Given the description of an element on the screen output the (x, y) to click on. 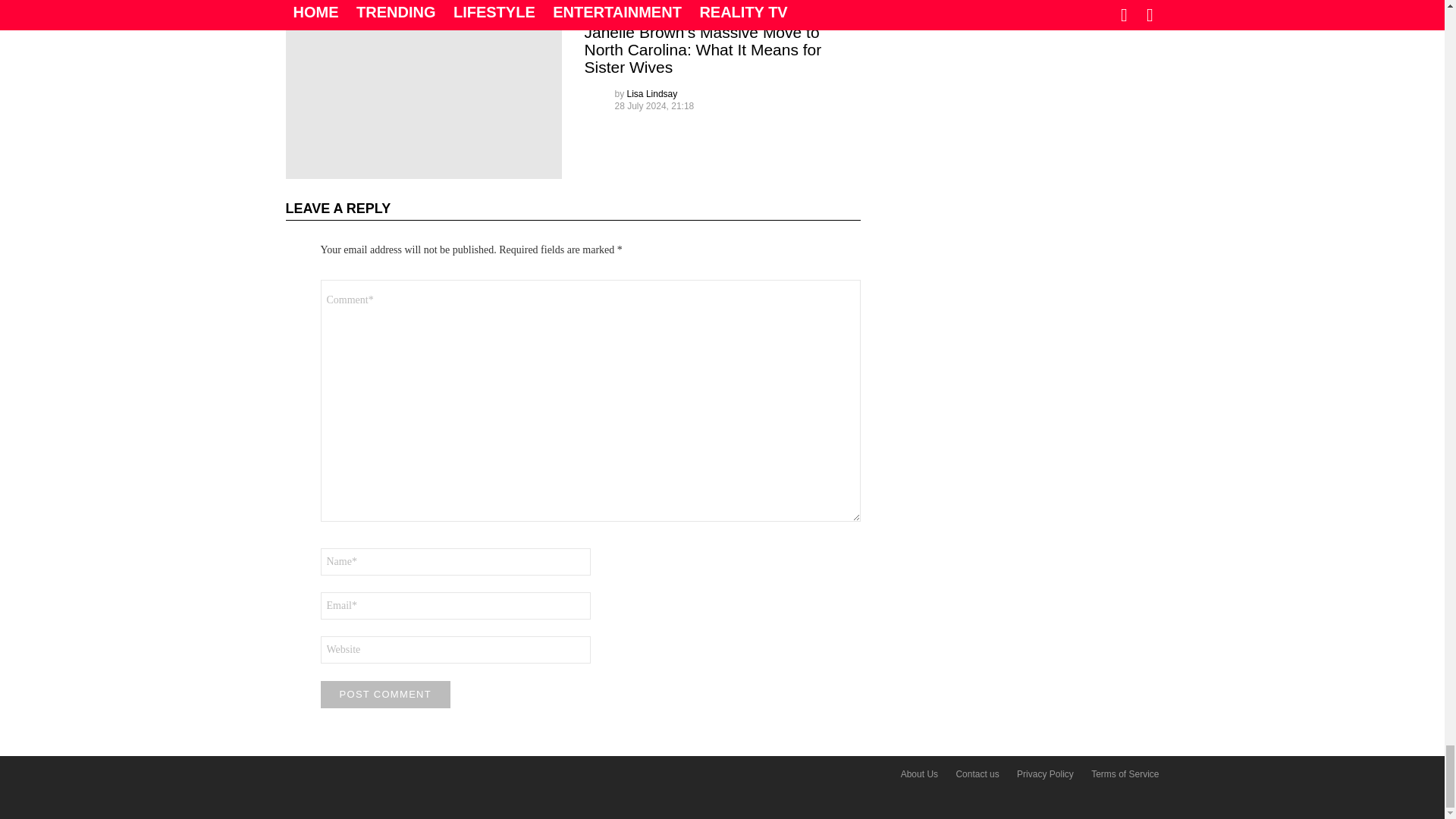
Post Comment (384, 694)
